Given the description of an element on the screen output the (x, y) to click on. 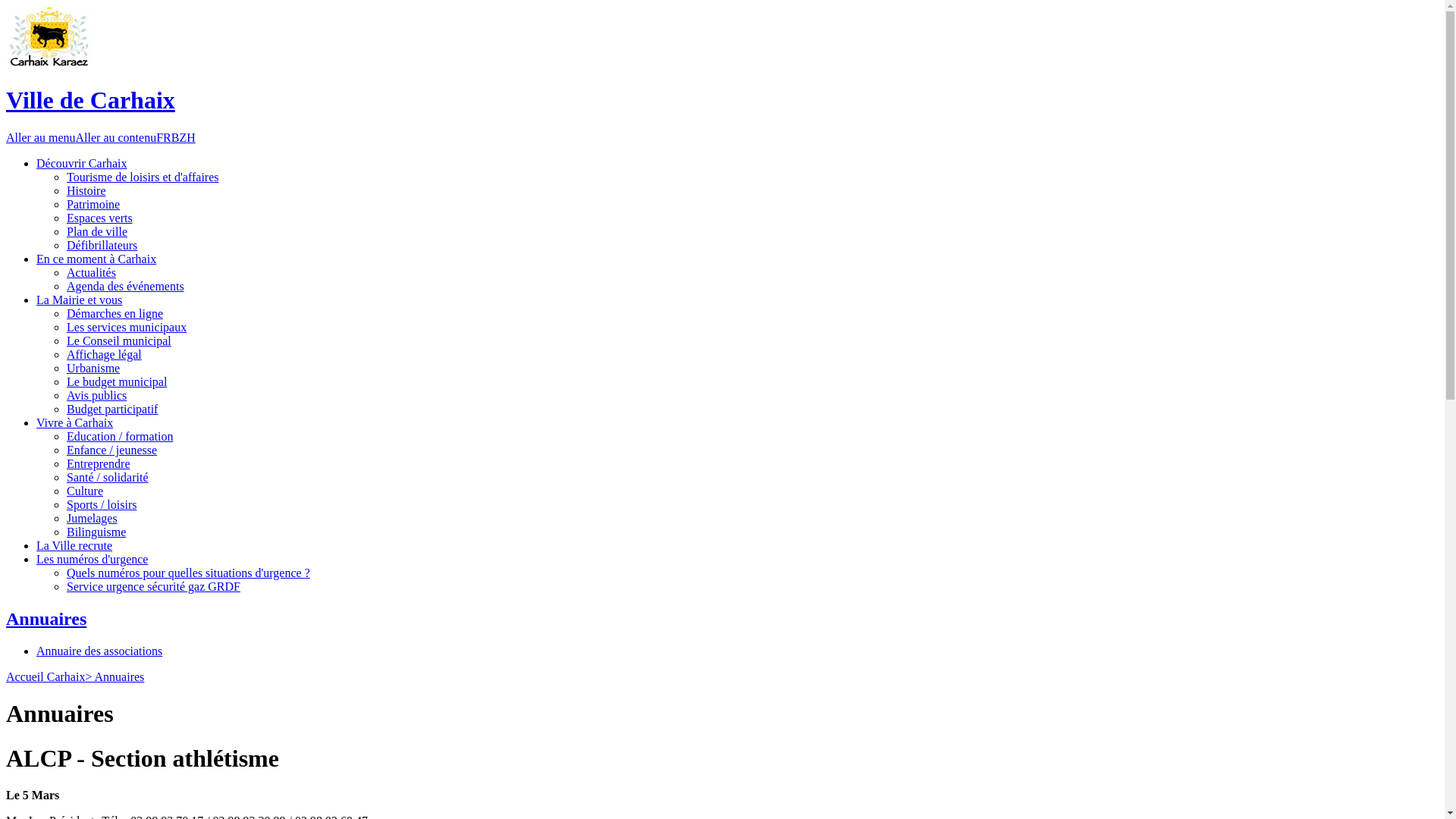
La Ville recrute Element type: text (74, 545)
Les services municipaux Element type: text (126, 326)
Espaces verts Element type: text (99, 217)
Bilinguisme Element type: text (95, 531)
BZH Element type: text (183, 137)
Le budget municipal Element type: text (116, 381)
Annuaire des associations Element type: text (99, 650)
Plan de ville Element type: text (96, 231)
La Mairie et vous Element type: text (79, 299)
Site officiel de la ville de Carhaix Element type: hover (49, 36)
Aller au menu Element type: text (40, 137)
> Annuaires Element type: text (114, 676)
Jumelages Element type: text (91, 517)
Histoire Element type: text (86, 190)
Budget participatif Element type: text (111, 408)
Sports / loisirs Element type: text (101, 504)
Aller au contenu Element type: text (115, 137)
Patrimoine Element type: text (92, 203)
Avis publics Element type: text (96, 395)
Le Conseil municipal Element type: text (118, 340)
Accueil Carhaix Element type: text (45, 676)
Annuaires Element type: text (46, 618)
Entreprendre Element type: text (98, 463)
Urbanisme Element type: text (92, 367)
FR Element type: text (163, 137)
Culture Element type: text (84, 490)
Education / formation Element type: text (119, 435)
Tourisme de loisirs et d'affaires Element type: text (142, 176)
Enfance / jeunesse Element type: text (111, 449)
Ville de Carhaix Element type: text (90, 99)
